Given the description of an element on the screen output the (x, y) to click on. 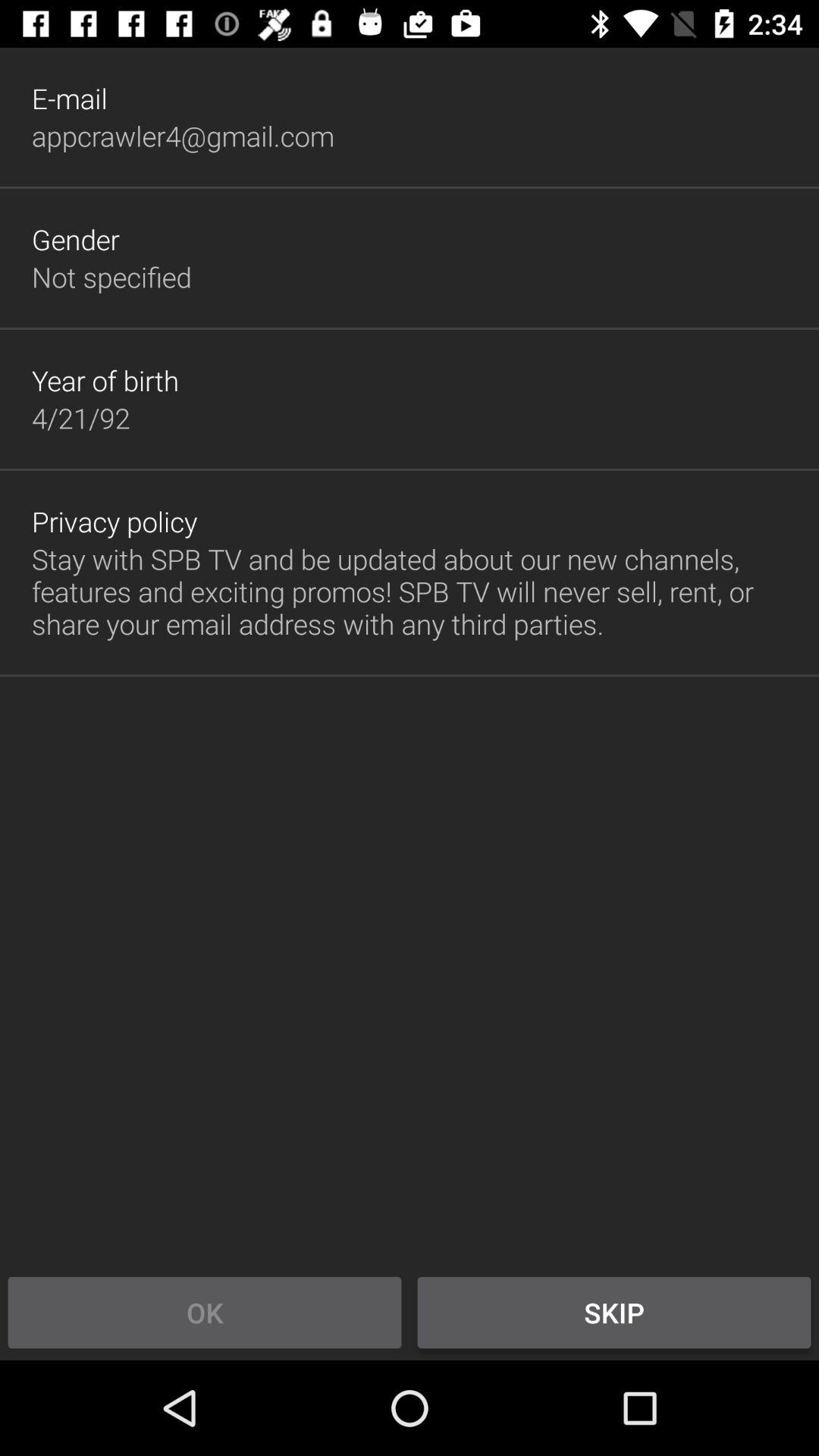
select the app below the year of birth item (80, 417)
